Given the description of an element on the screen output the (x, y) to click on. 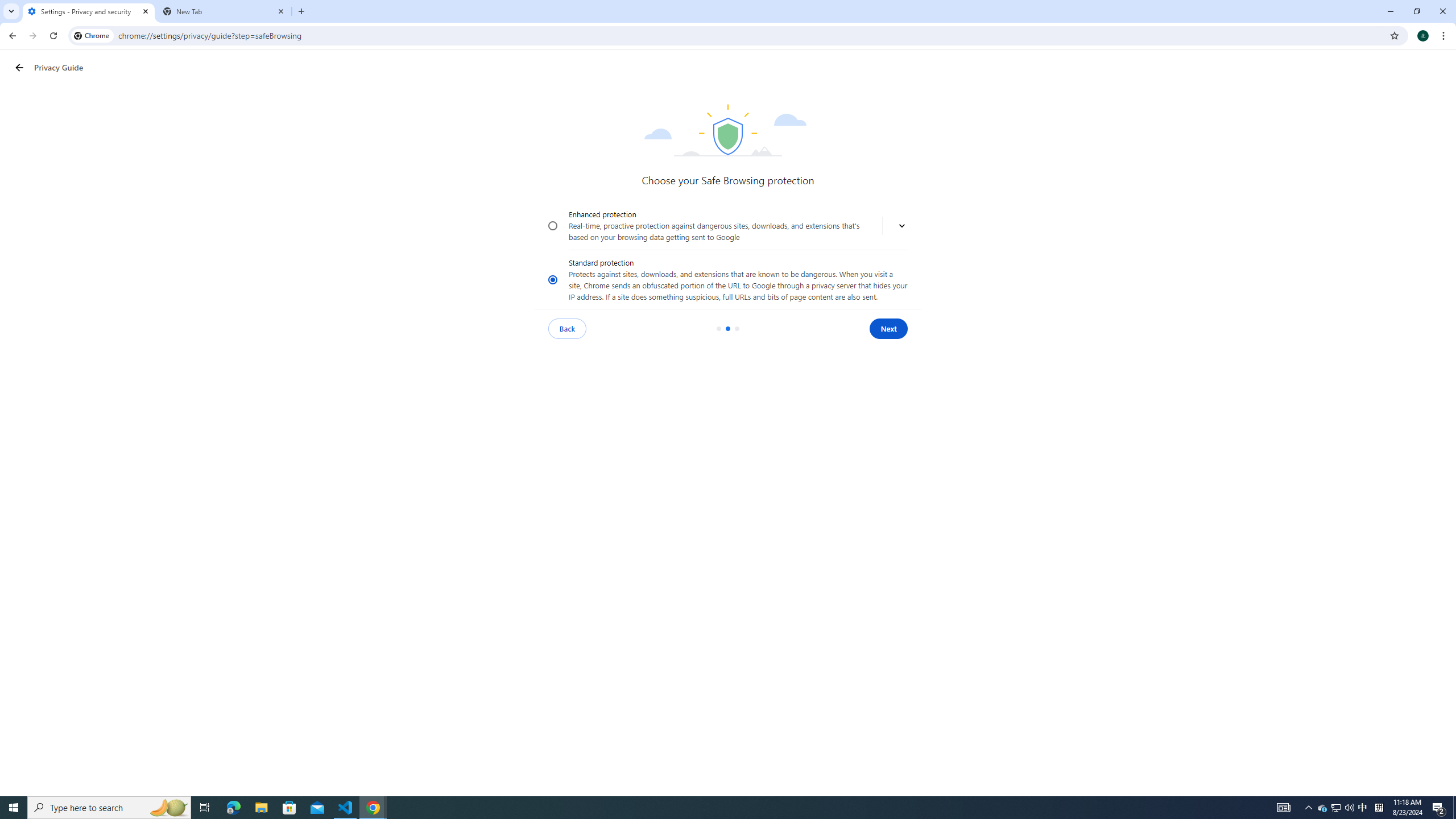
New Tab (224, 11)
